Given the description of an element on the screen output the (x, y) to click on. 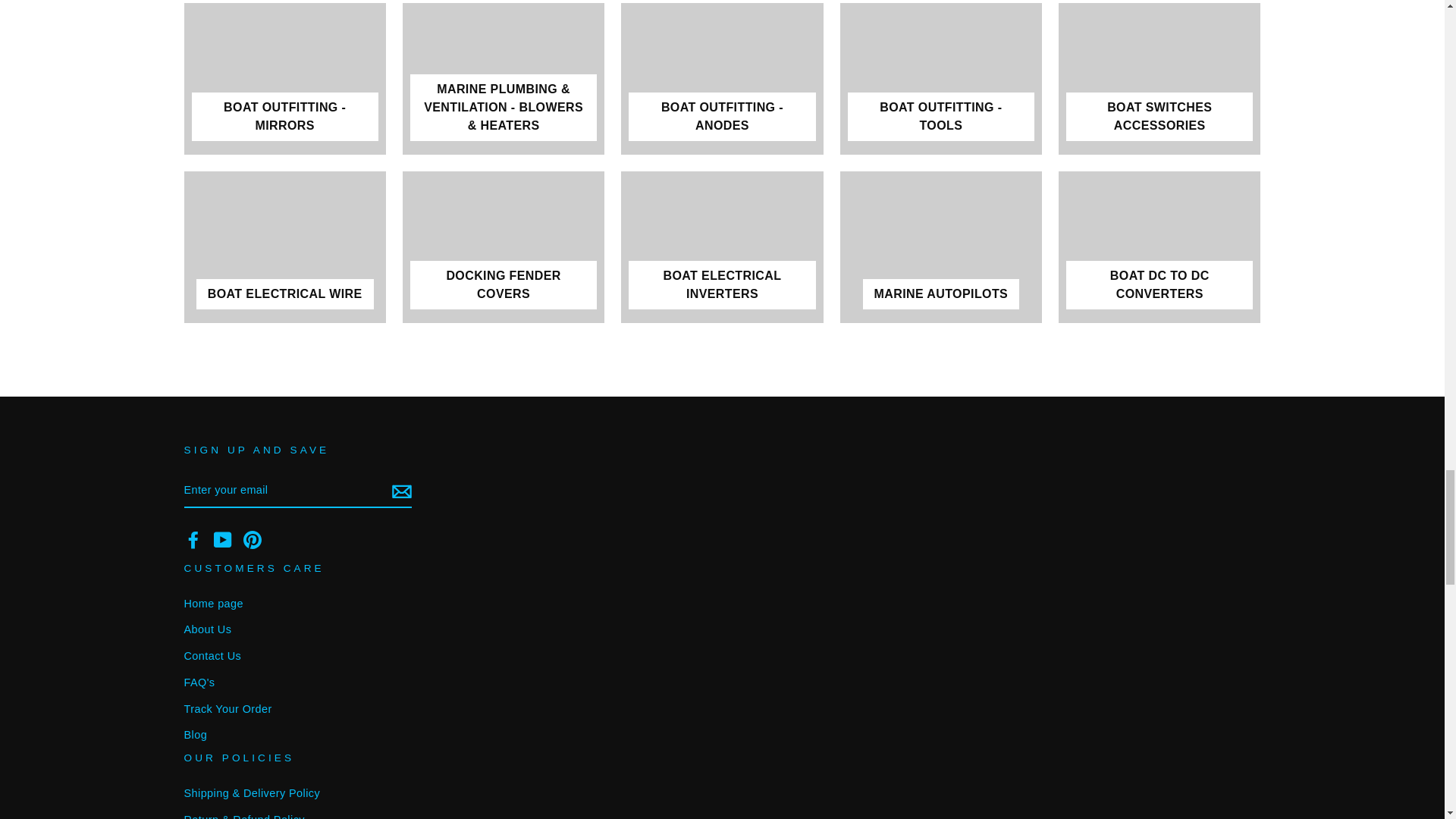
Themarineking.com on Pinterest (251, 539)
Themarineking.com on YouTube (222, 539)
Themarineking.com on Facebook (192, 539)
